Given the description of an element on the screen output the (x, y) to click on. 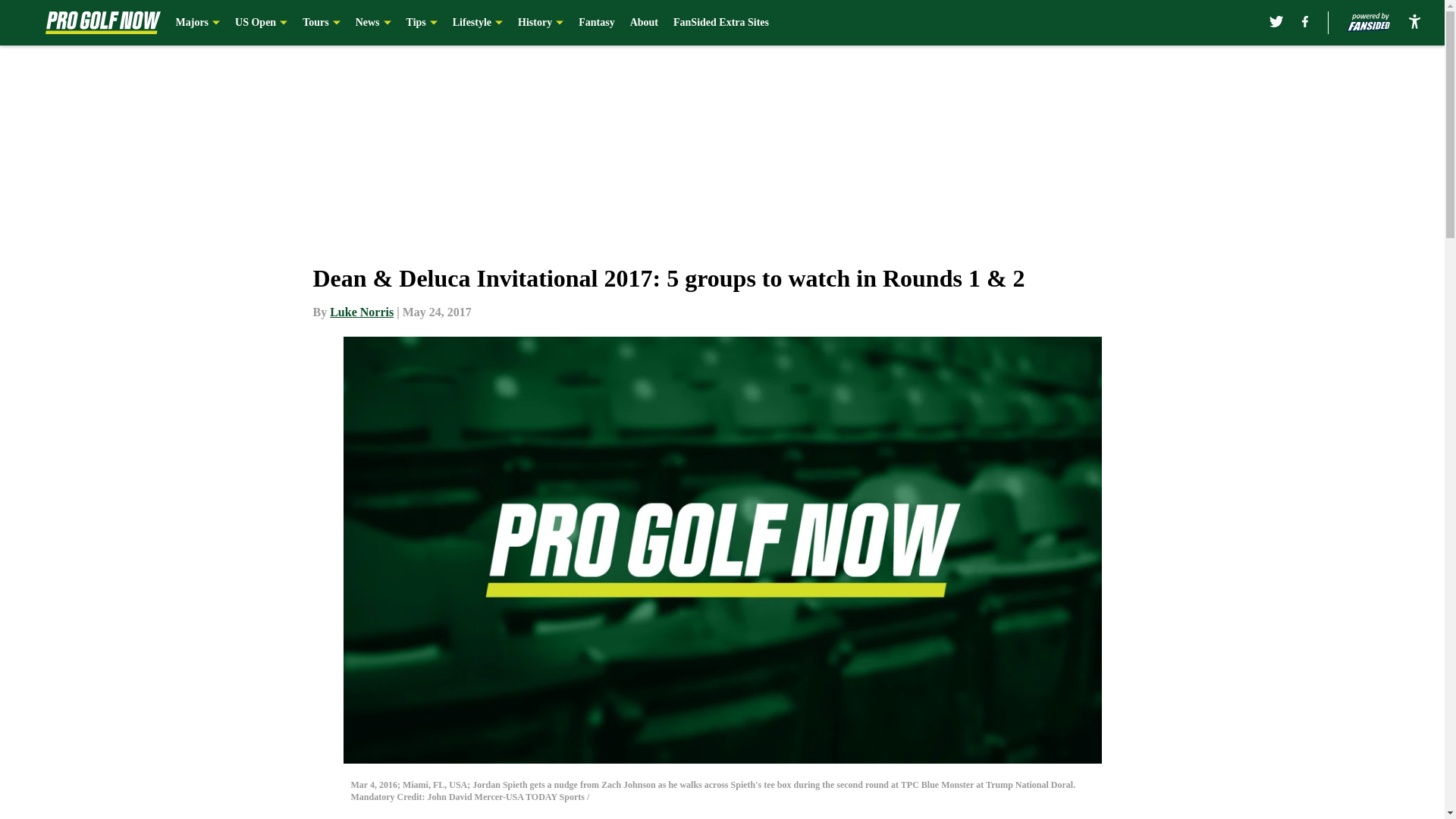
FanSided Extra Sites (720, 22)
Fantasy (596, 22)
Luke Norris (361, 311)
About (644, 22)
